Given the description of an element on the screen output the (x, y) to click on. 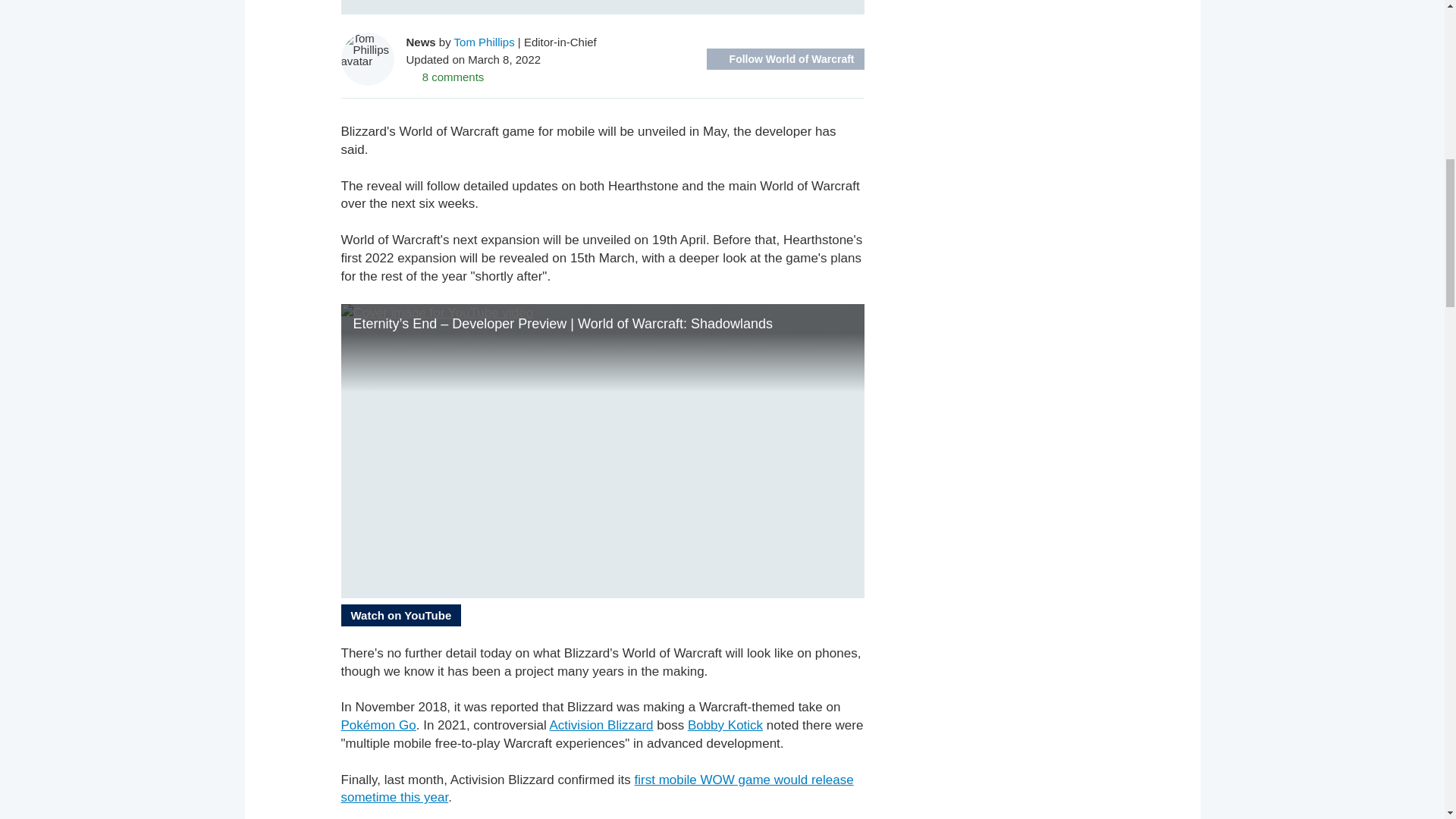
8 comments (445, 75)
Tom Phillips (484, 41)
Activision Blizzard (601, 725)
first mobile WOW game would release sometime this year (596, 789)
Bobby Kotick (724, 725)
Follow World of Warcraft (785, 58)
Watch on YouTube (400, 615)
